Given the description of an element on the screen output the (x, y) to click on. 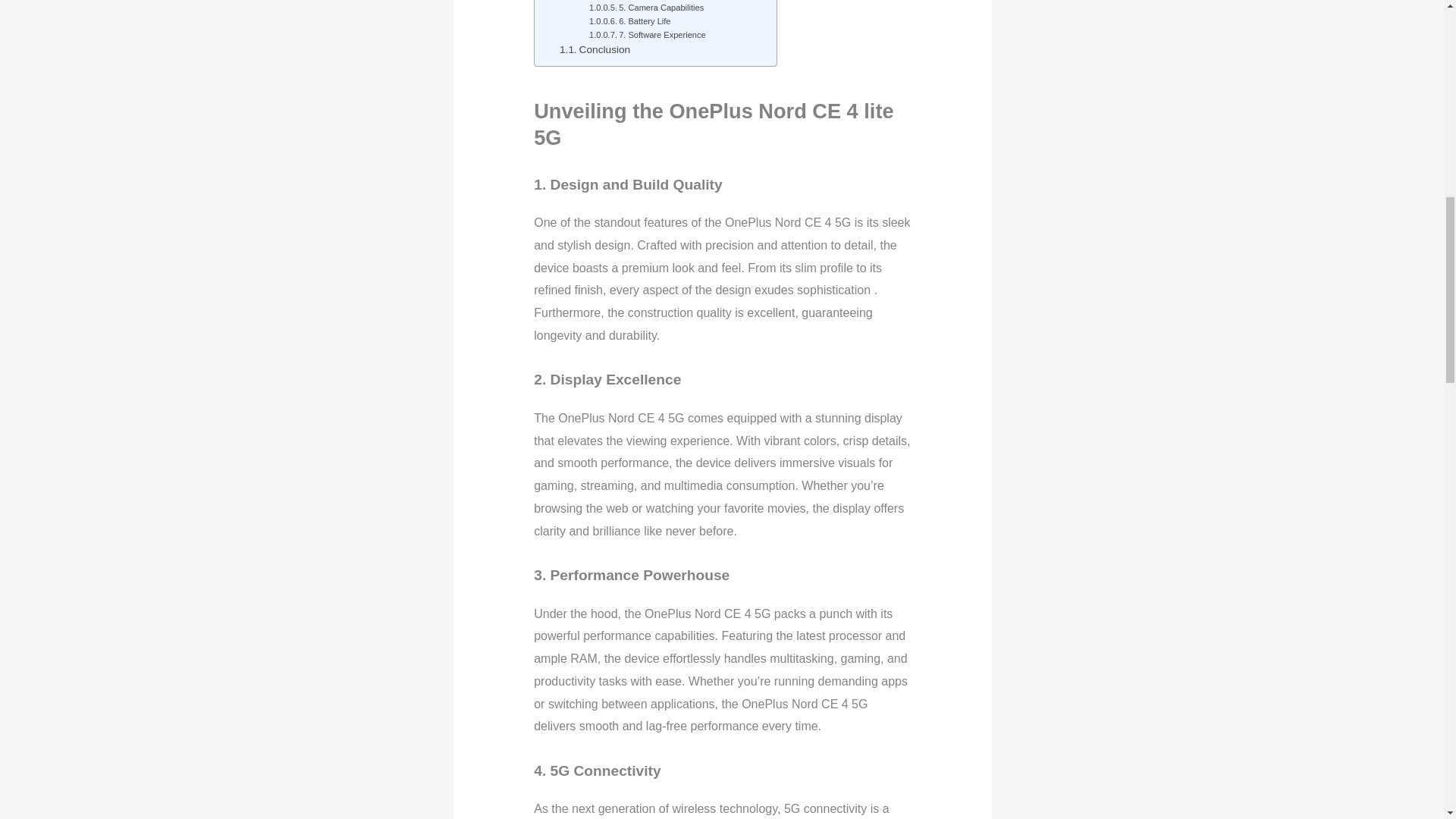
6. Battery Life (630, 21)
7. Software Experience (647, 35)
7. Software Experience (647, 35)
Conclusion (594, 49)
Conclusion (594, 49)
4. 5G Connectivity (638, 0)
5. Camera Capabilities (646, 8)
5. Camera Capabilities (646, 8)
6. Battery Life (630, 21)
4. 5G Connectivity (638, 0)
